Given the description of an element on the screen output the (x, y) to click on. 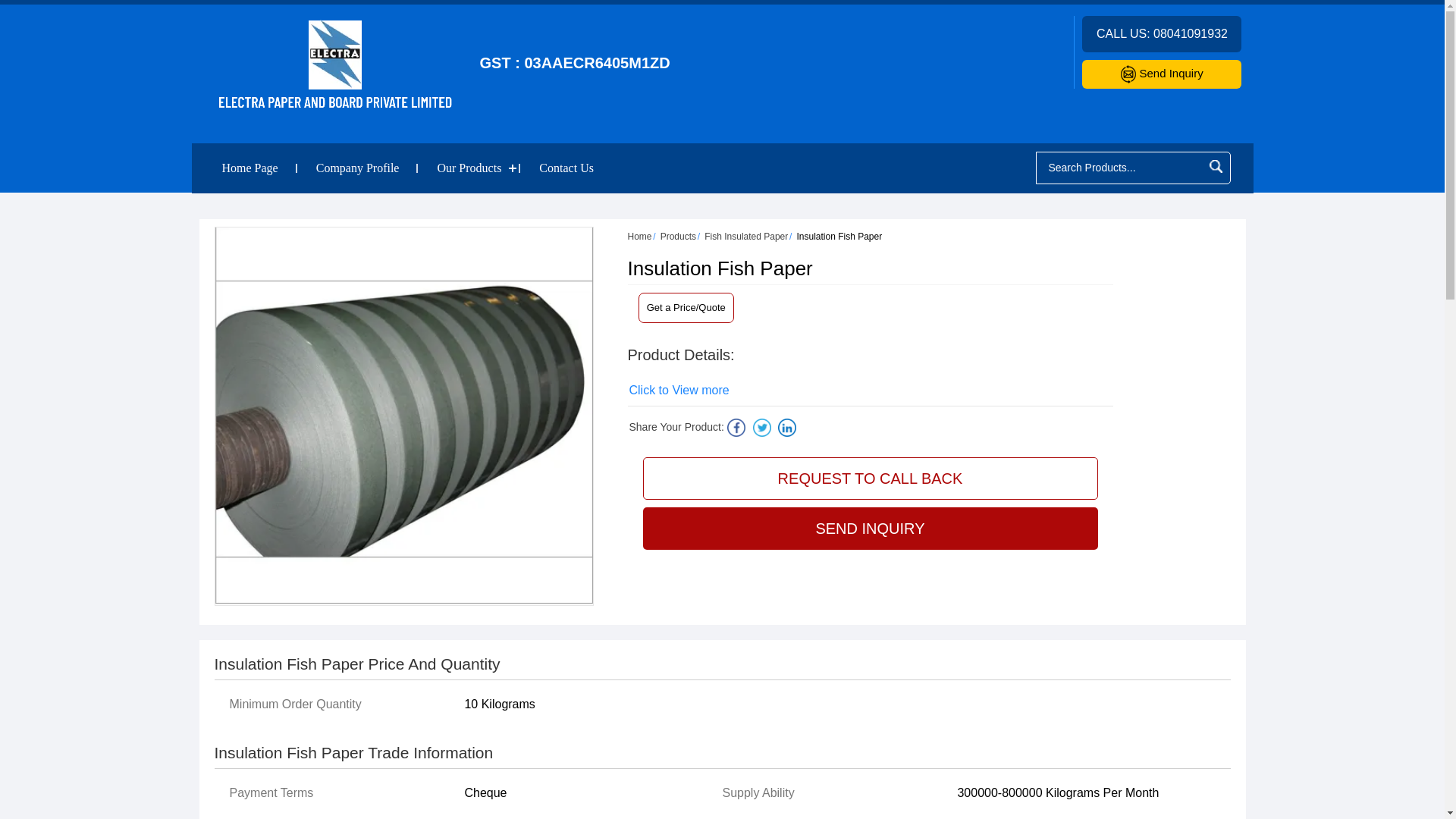
Products (678, 235)
SEND INQUIRY (870, 527)
Search (1215, 166)
submit (1215, 166)
Click to View more (678, 390)
Company Profile (358, 168)
Search Products... (1120, 167)
Search Products... (1120, 167)
Home (639, 235)
REQUEST TO CALL BACK (870, 478)
Our Products (468, 168)
Send Inquiry (1161, 72)
Contact Us (565, 168)
Home Page (250, 168)
Fish Insulated Paper (745, 235)
